Given the description of an element on the screen output the (x, y) to click on. 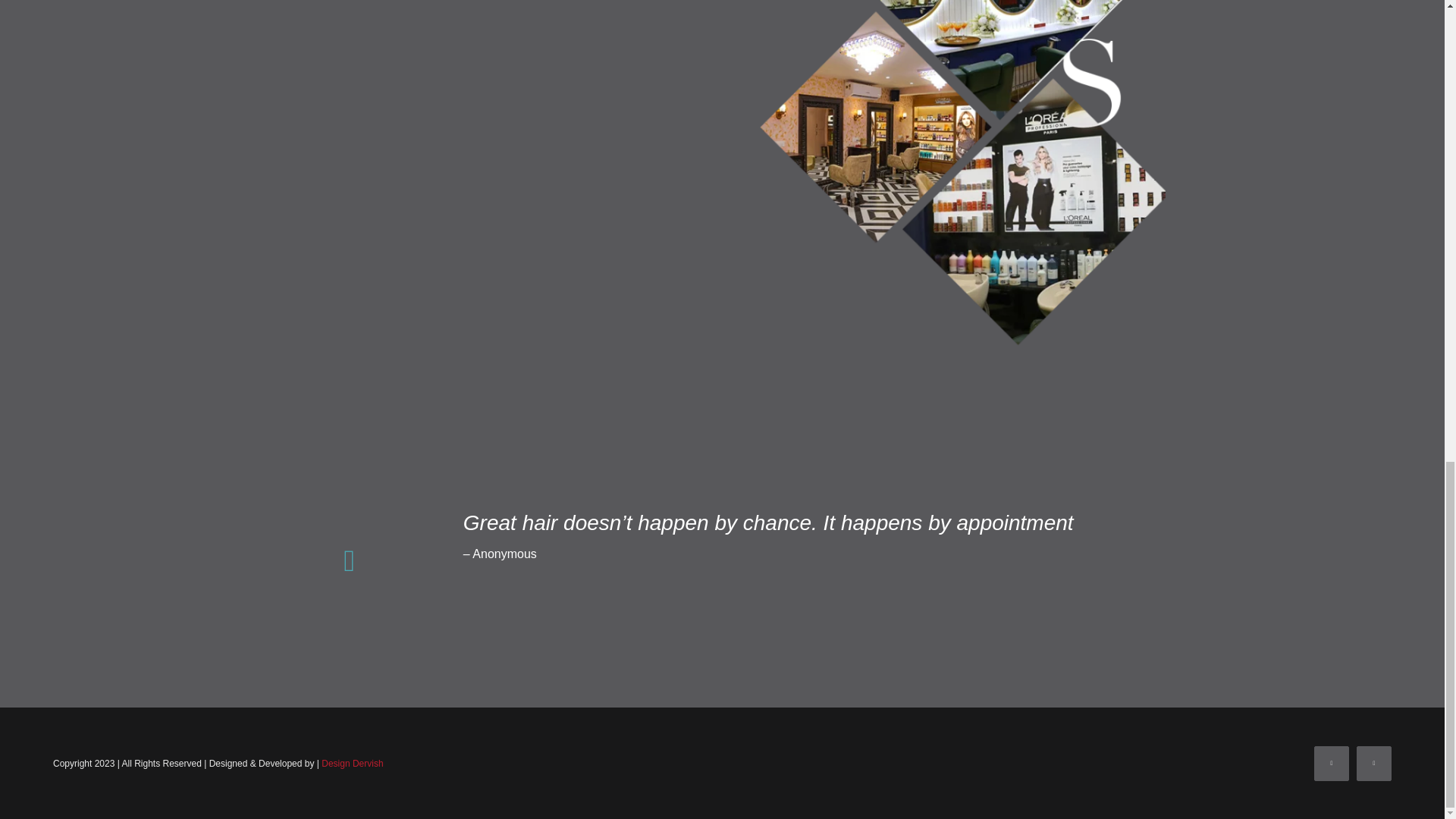
Design Dervish (351, 763)
Facebook (1331, 763)
Instagram (1373, 763)
Instagram (1373, 763)
Facebook (1331, 763)
